Given the description of an element on the screen output the (x, y) to click on. 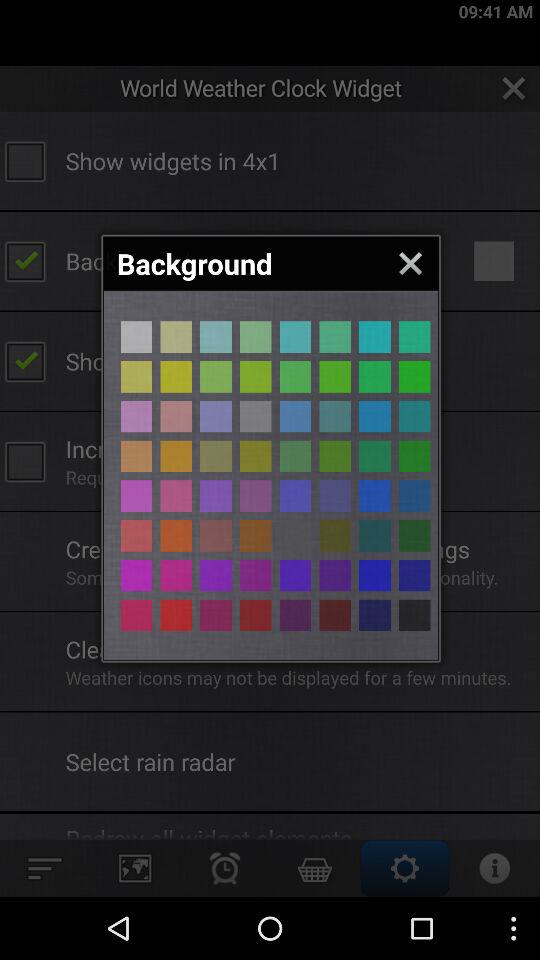
pick green background color (295, 456)
